Given the description of an element on the screen output the (x, y) to click on. 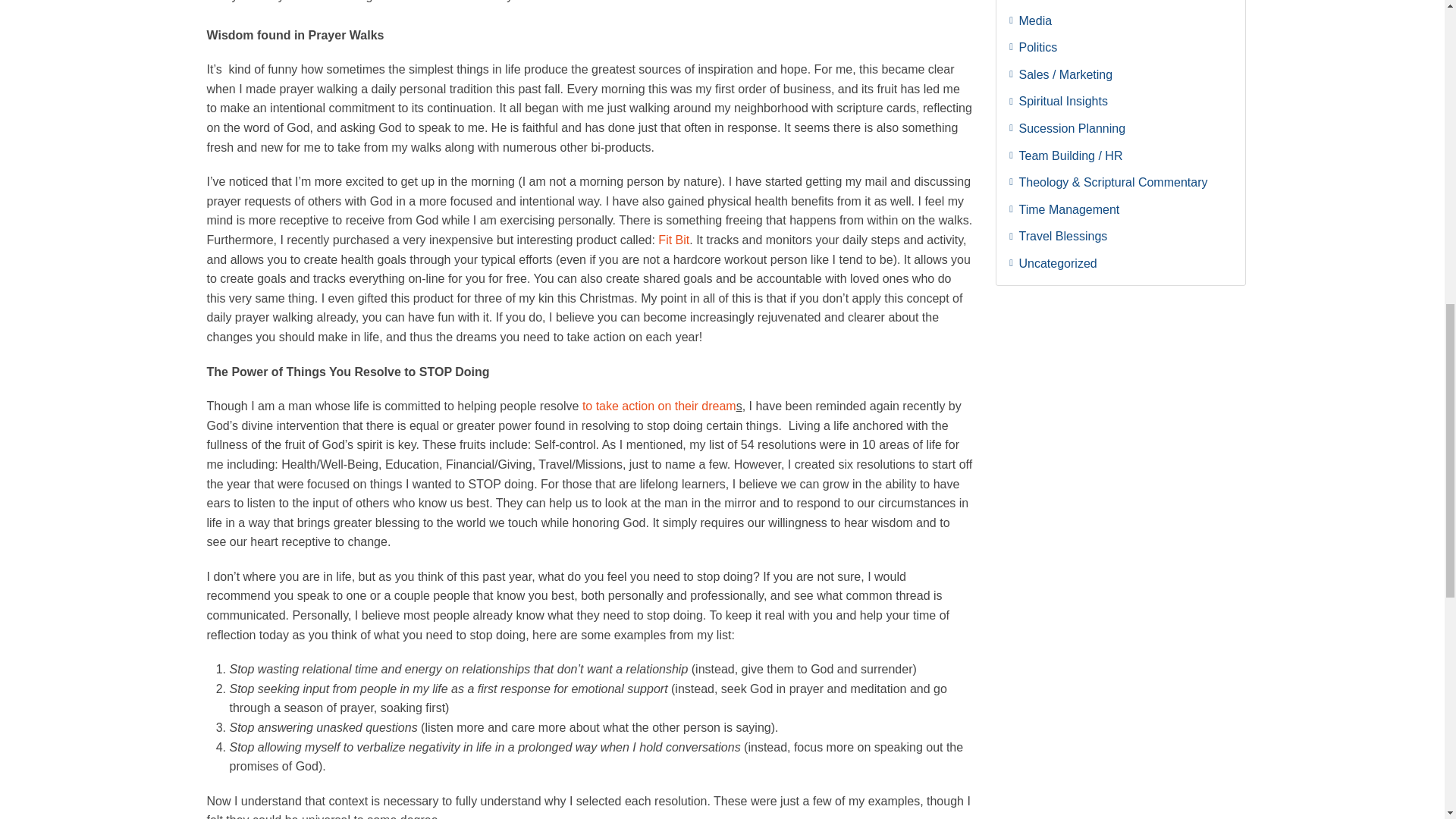
Sales and Marketing Resources (1120, 74)
